Given the description of an element on the screen output the (x, y) to click on. 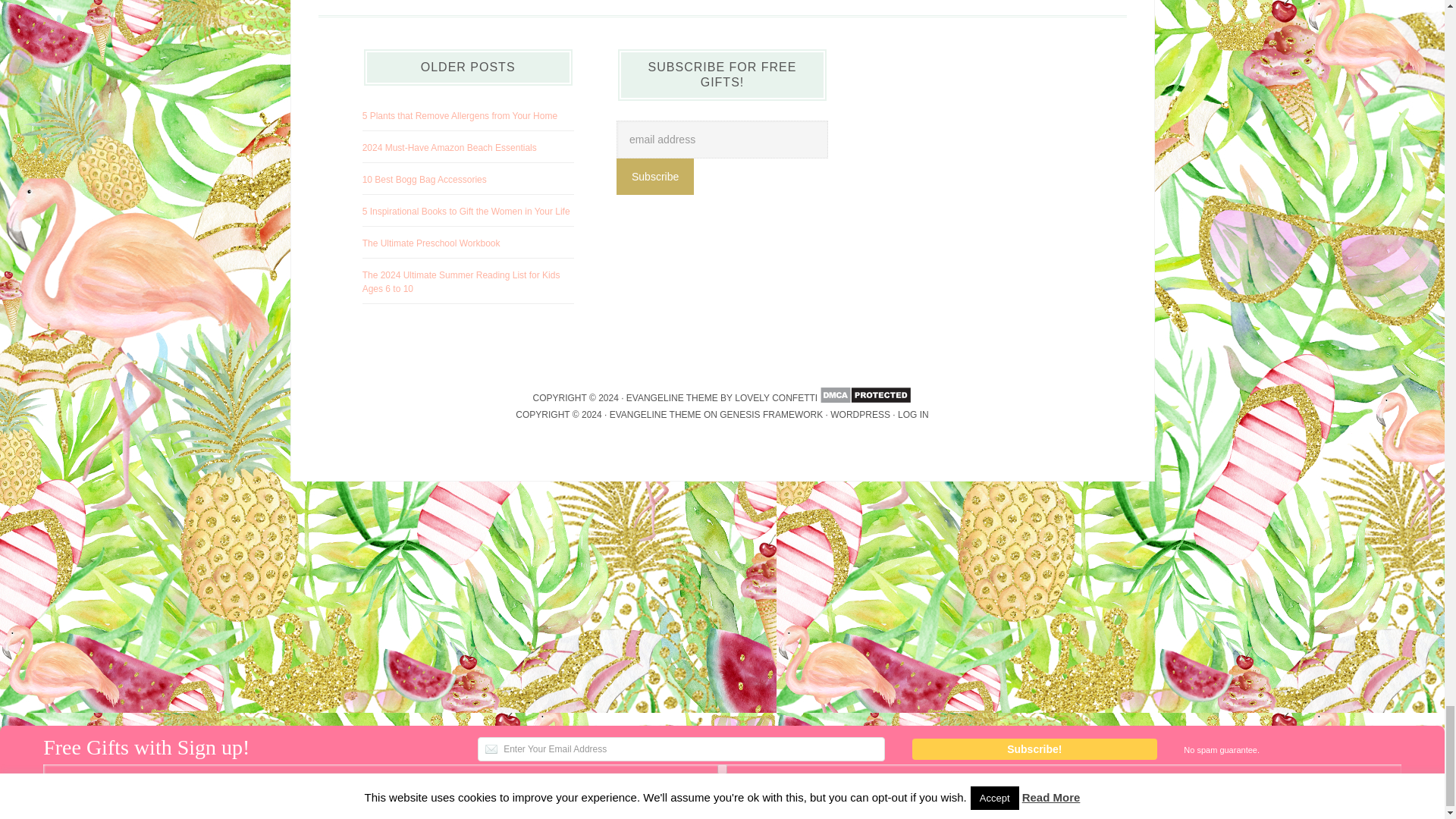
DMCA.com Protection Status (863, 398)
Subscribe (654, 176)
Subscribe! (1034, 749)
